Given the description of an element on the screen output the (x, y) to click on. 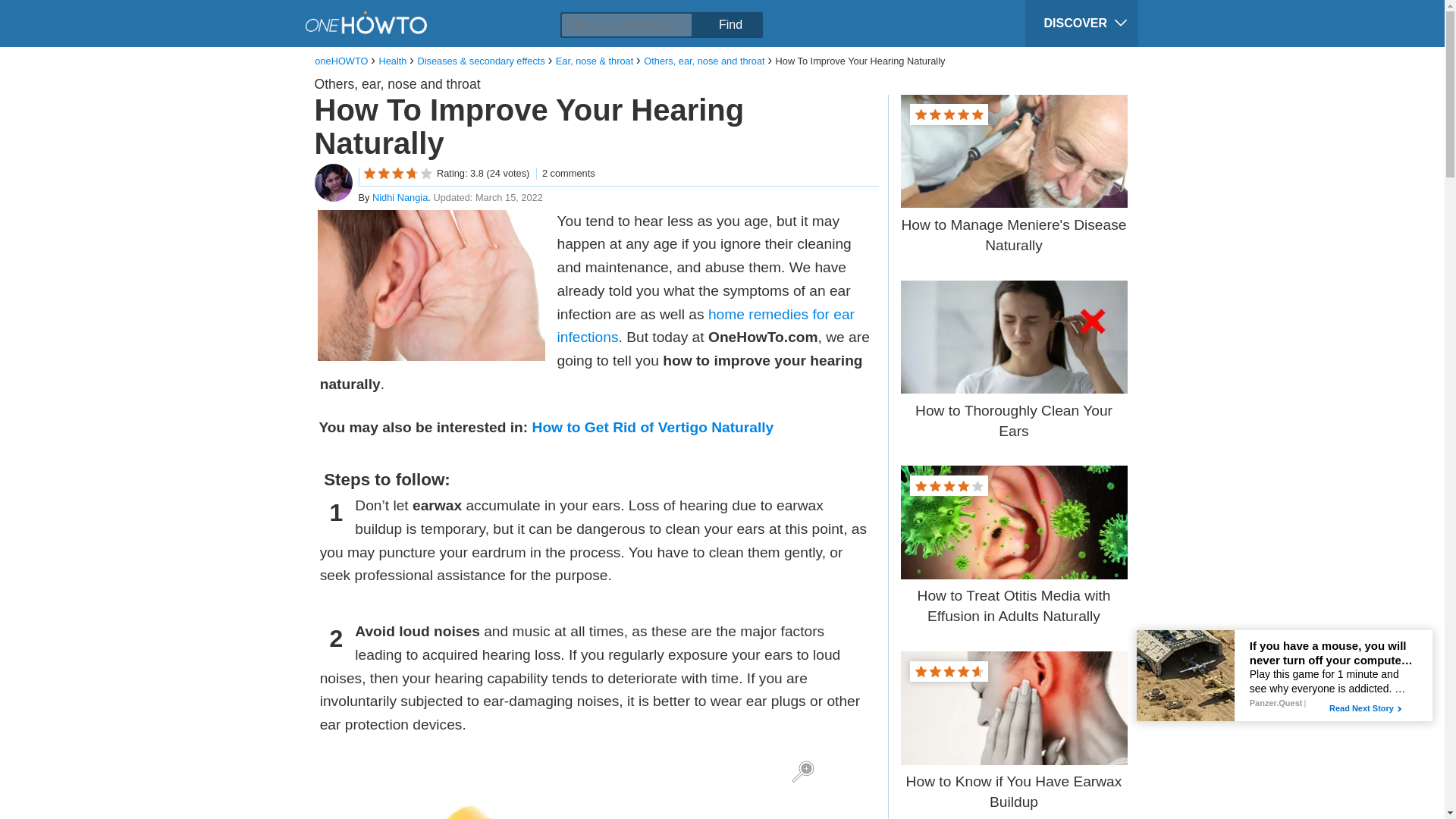
Others, ear, nose and throat (703, 60)
Health (392, 60)
oneHOWTO (341, 60)
Others, ear, nose and throat (397, 83)
2 comments (565, 173)
Nidhi Nangia (400, 197)
Find (729, 24)
How to Get Rid of Vertigo Naturally (653, 426)
